Given the description of an element on the screen output the (x, y) to click on. 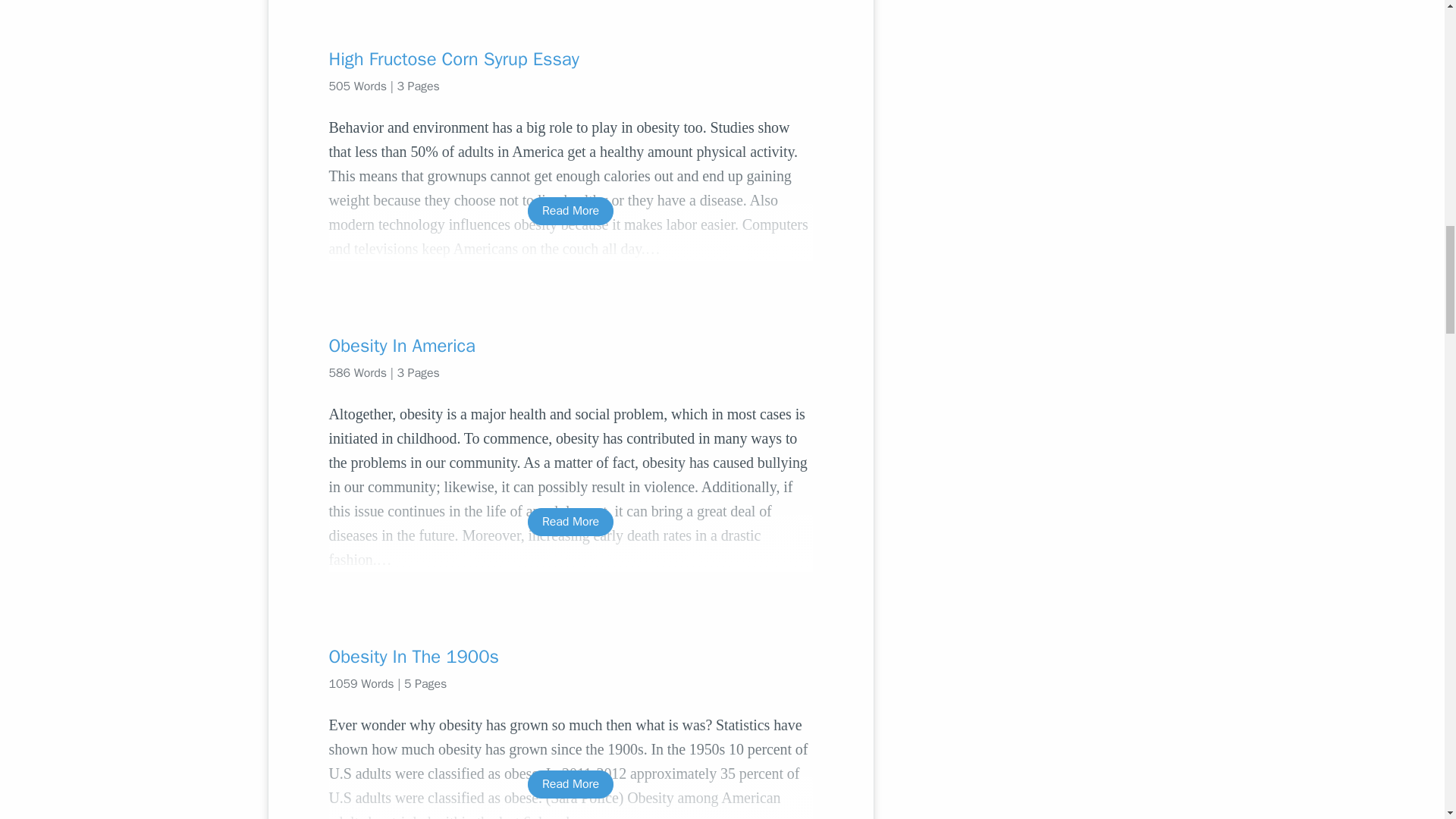
Read More (569, 521)
Obesity In America (570, 345)
High Fructose Corn Syrup Essay (570, 58)
Read More (569, 211)
Read More (569, 784)
Obesity In The 1900s (570, 656)
